Given the description of an element on the screen output the (x, y) to click on. 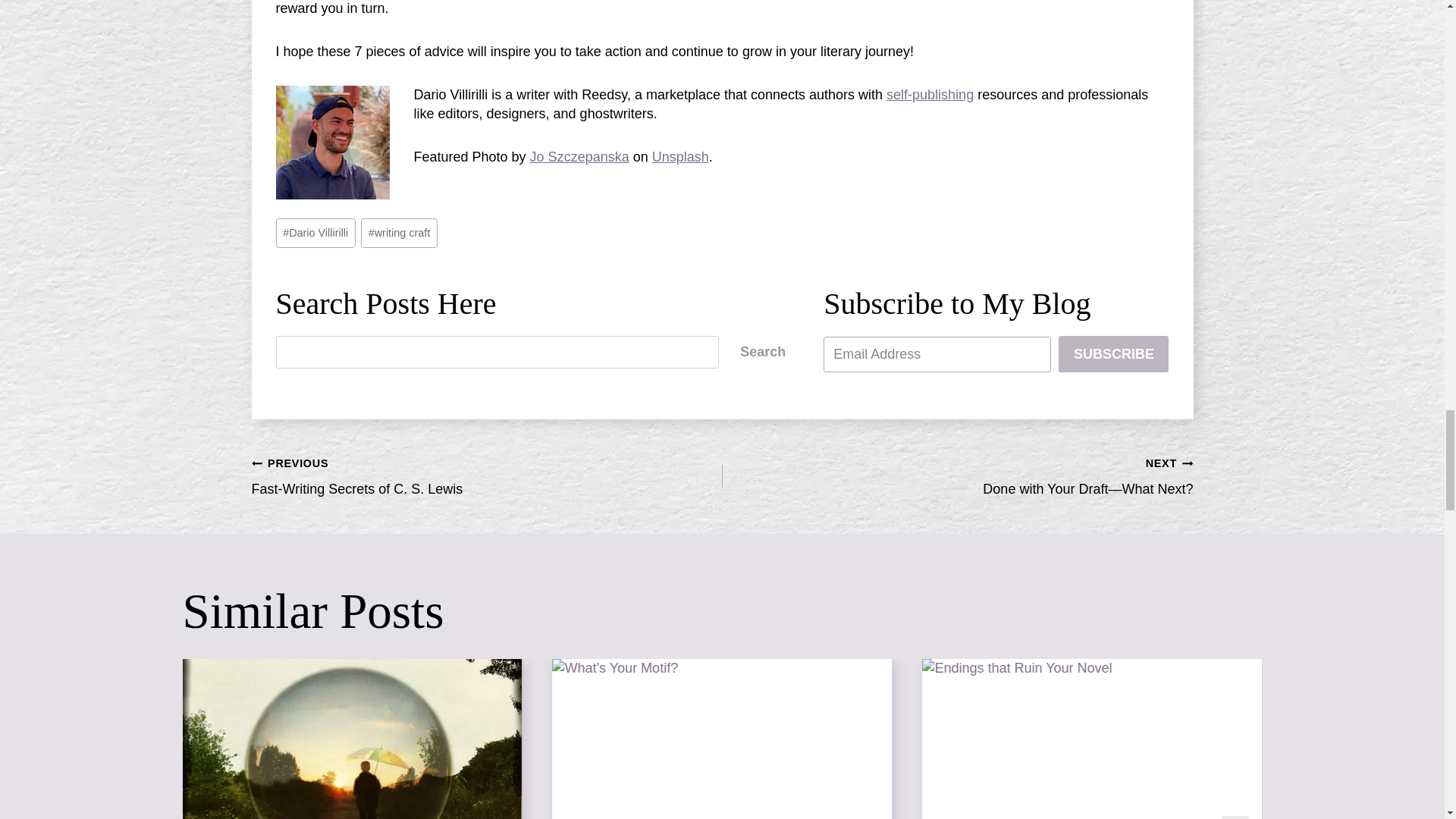
Dario Villirilli (315, 233)
self-publishing (930, 94)
Unsplash (680, 156)
Search (762, 351)
Jo Szczepanska (578, 156)
SUBSCRIBE (1113, 353)
writing craft (486, 475)
